Given the description of an element on the screen output the (x, y) to click on. 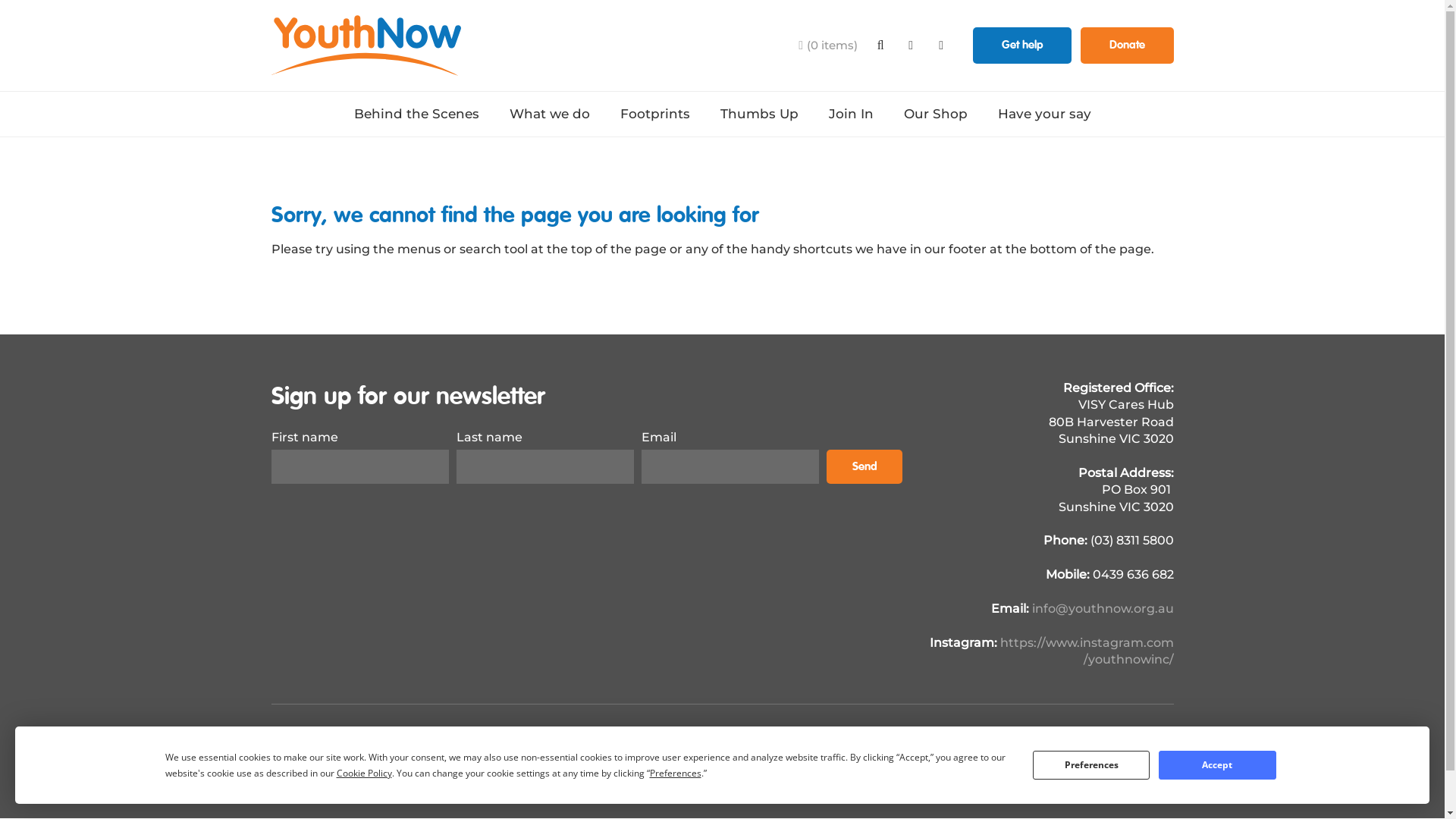
Facebook Element type: text (1135, 736)
Basket: (0 items) Element type: text (827, 44)
Sitemap Element type: text (295, 734)
Join In Element type: text (850, 113)
YouthNow Inc. Element type: text (366, 45)
Behind the Scenes Element type: text (415, 113)
Get help Element type: text (1021, 45)
https://www.instagram.com/youthnowinc/ Element type: text (1086, 650)
What we do Element type: text (549, 113)
Accessibility Element type: text (381, 734)
Accept Element type: text (1216, 764)
Privacy Policy Element type: text (622, 734)
Facebook Element type: text (910, 45)
Search Element type: text (880, 45)
Twitter Element type: text (940, 45)
Footprints Element type: text (655, 113)
Send Element type: text (864, 466)
email Element type: hover (730, 466)
Have your say Element type: text (1044, 113)
Thumbs Up Element type: text (759, 113)
Twitter Element type: text (1164, 736)
Preferences Element type: text (1090, 764)
last name Element type: hover (544, 466)
Log in Element type: text (706, 734)
first name Element type: hover (359, 466)
Terms & Conditions Element type: text (498, 734)
info@youthnow.org.au Element type: text (1102, 608)
Donate Element type: text (1126, 45)
Our Shop Element type: text (935, 113)
